Given the description of an element on the screen output the (x, y) to click on. 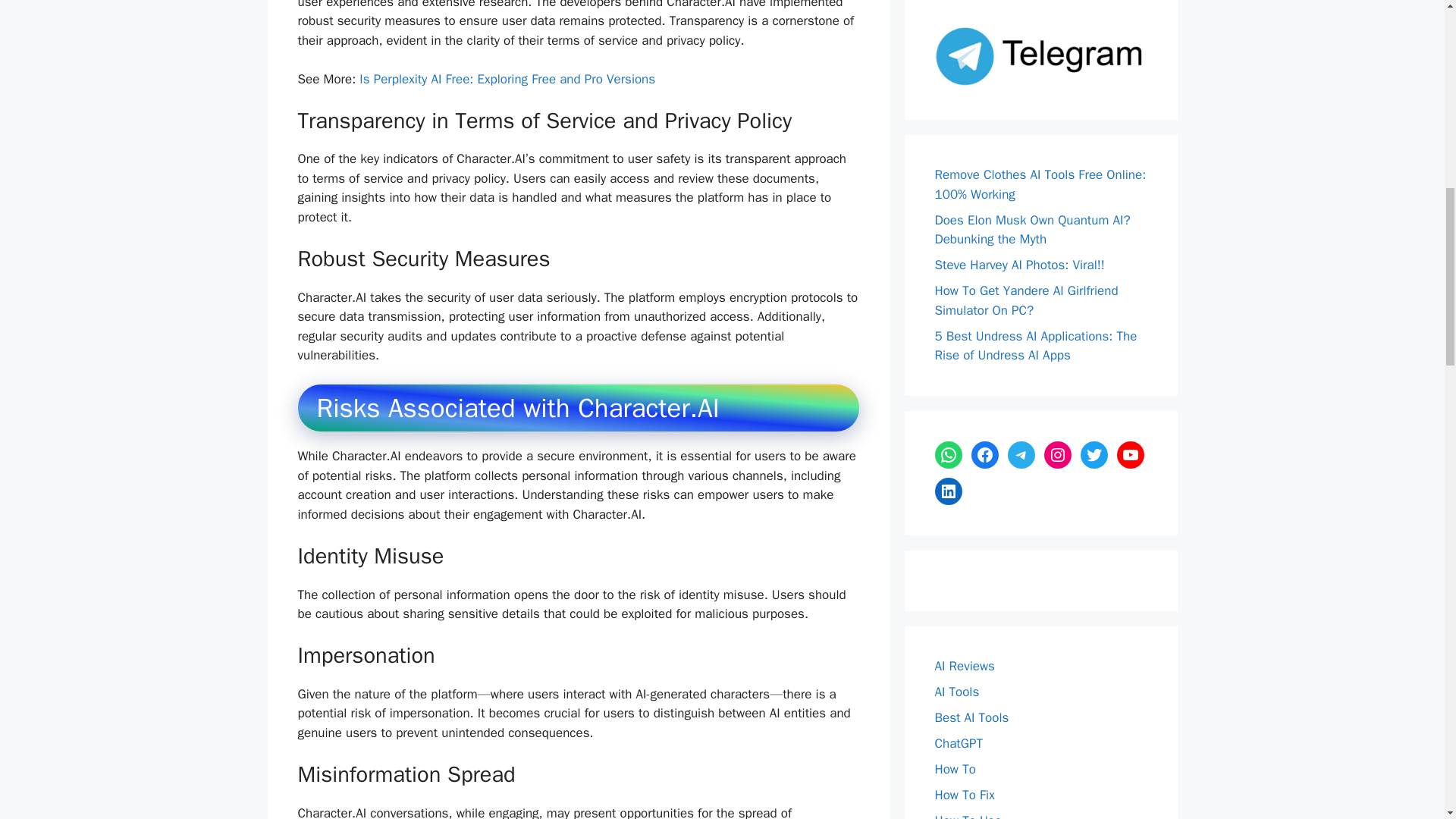
WhatsApp (947, 454)
How To Get Yandere AI Girlfriend Simulator On PC? (1026, 300)
Is Perplexity AI Free: Exploring Free and Pro Versions (507, 78)
5 Best Undress AI Applications: The Rise of Undress AI Apps (1035, 345)
Scroll back to top (1406, 720)
Steve Harvey AI Photos: Viral!! (1018, 264)
Does Elon Musk Own Quantum AI? Debunking the Myth (1031, 230)
